Given the description of an element on the screen output the (x, y) to click on. 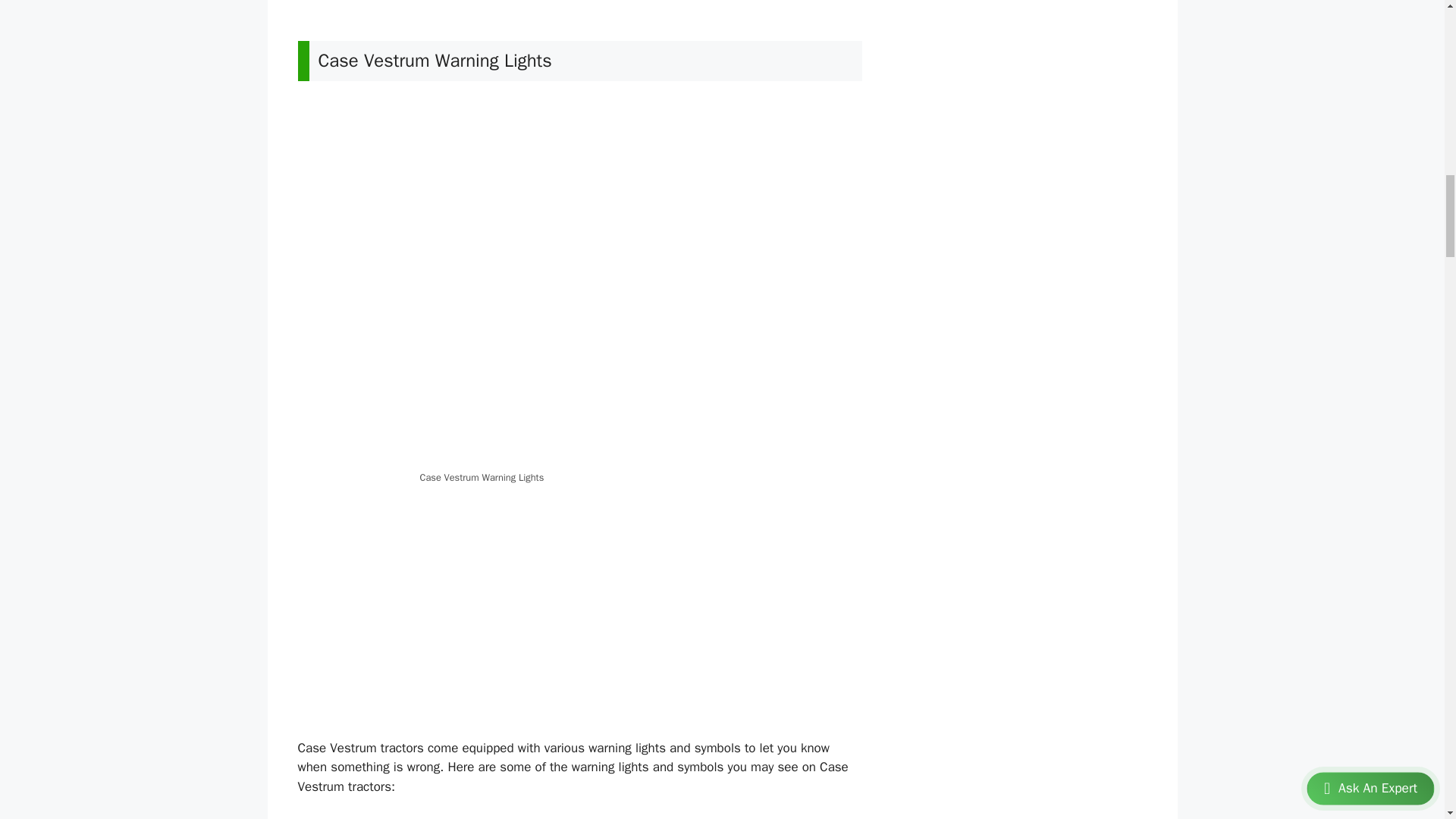
Case Vestrum Warning Lights And Symbols 2 (579, 281)
